Given the description of an element on the screen output the (x, y) to click on. 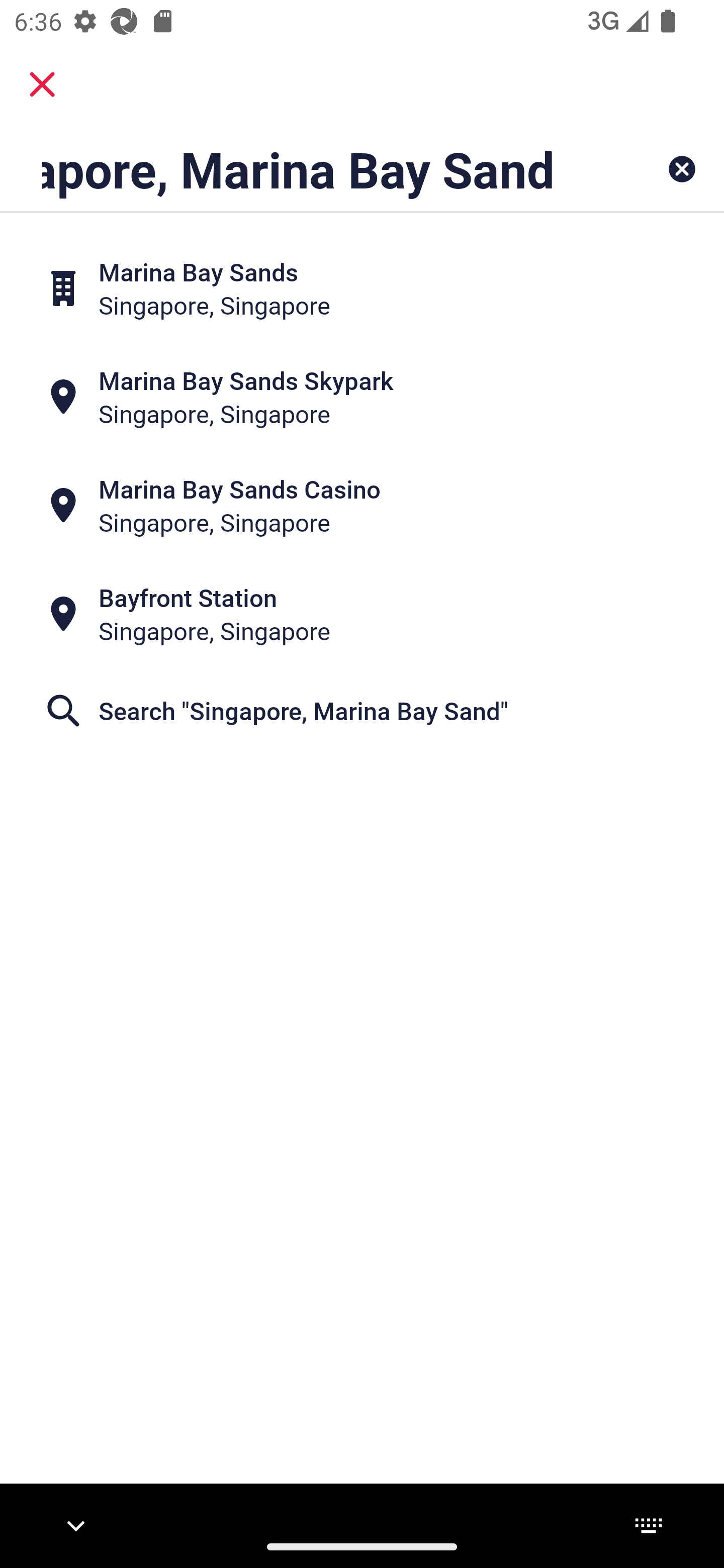
close. (42, 84)
Clear (681, 169)
Singapore, Marina Bay Sand (298, 169)
Marina Bay Sands Singapore, Singapore (362, 288)
Marina Bay Sands Skypark Singapore, Singapore (362, 397)
Marina Bay Sands Casino Singapore, Singapore (362, 505)
Bayfront Station Singapore, Singapore (362, 613)
Search "Singapore, Marina Bay Sand" (361, 709)
